Given the description of an element on the screen output the (x, y) to click on. 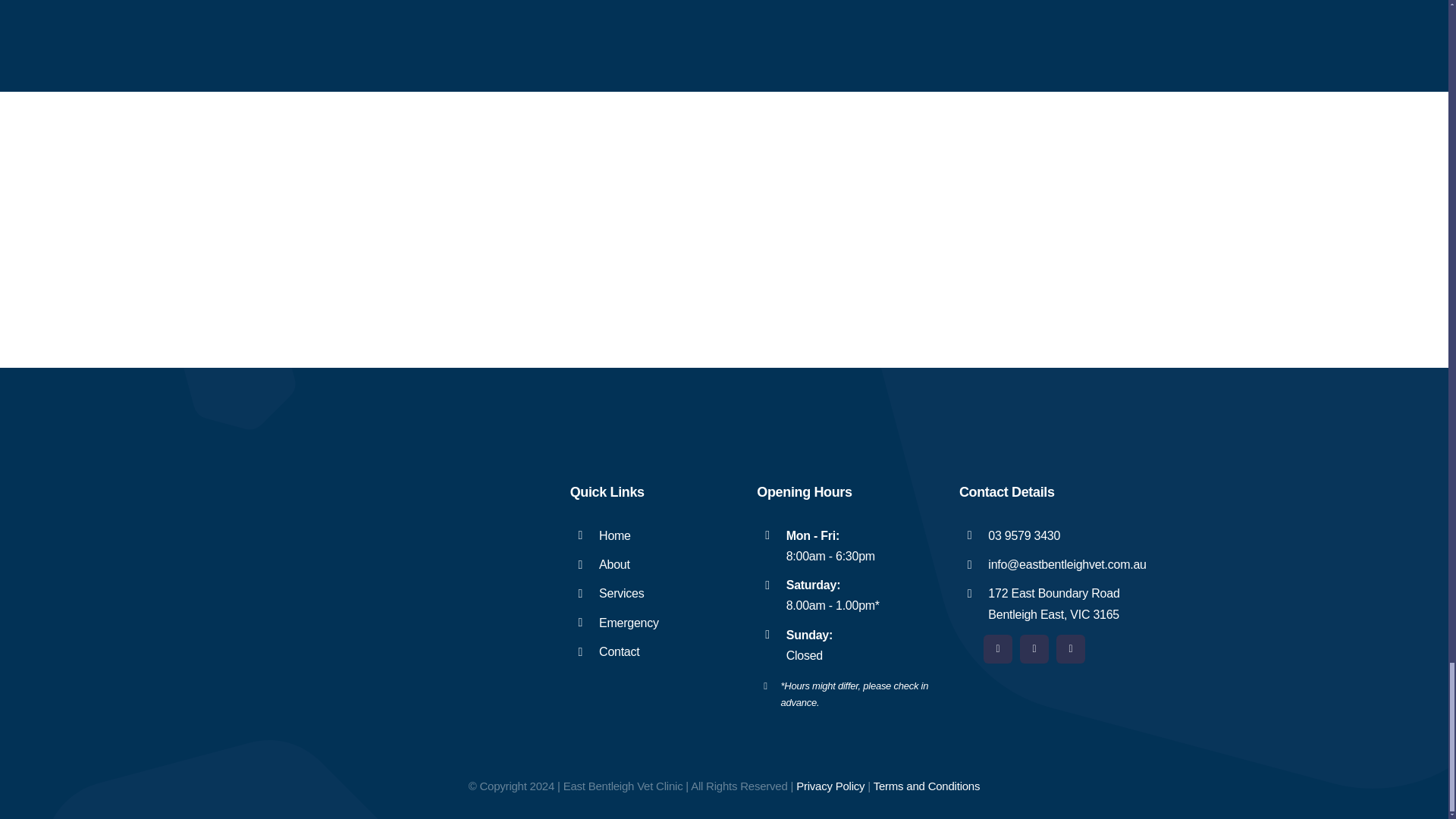
Instagram (1034, 648)
YouTube (1070, 648)
Facebook (997, 648)
